Given the description of an element on the screen output the (x, y) to click on. 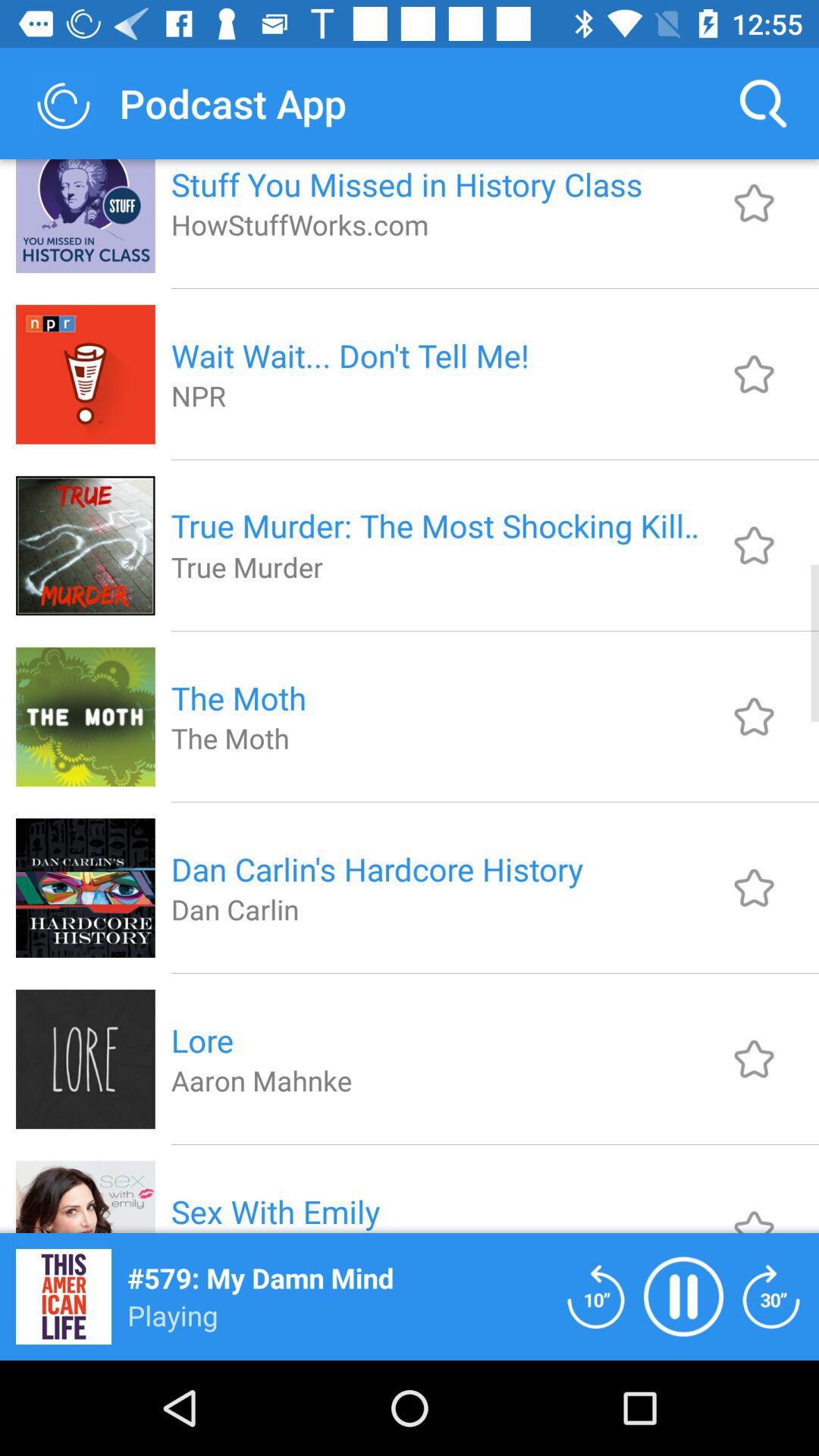
favorite star (754, 545)
